Given the description of an element on the screen output the (x, y) to click on. 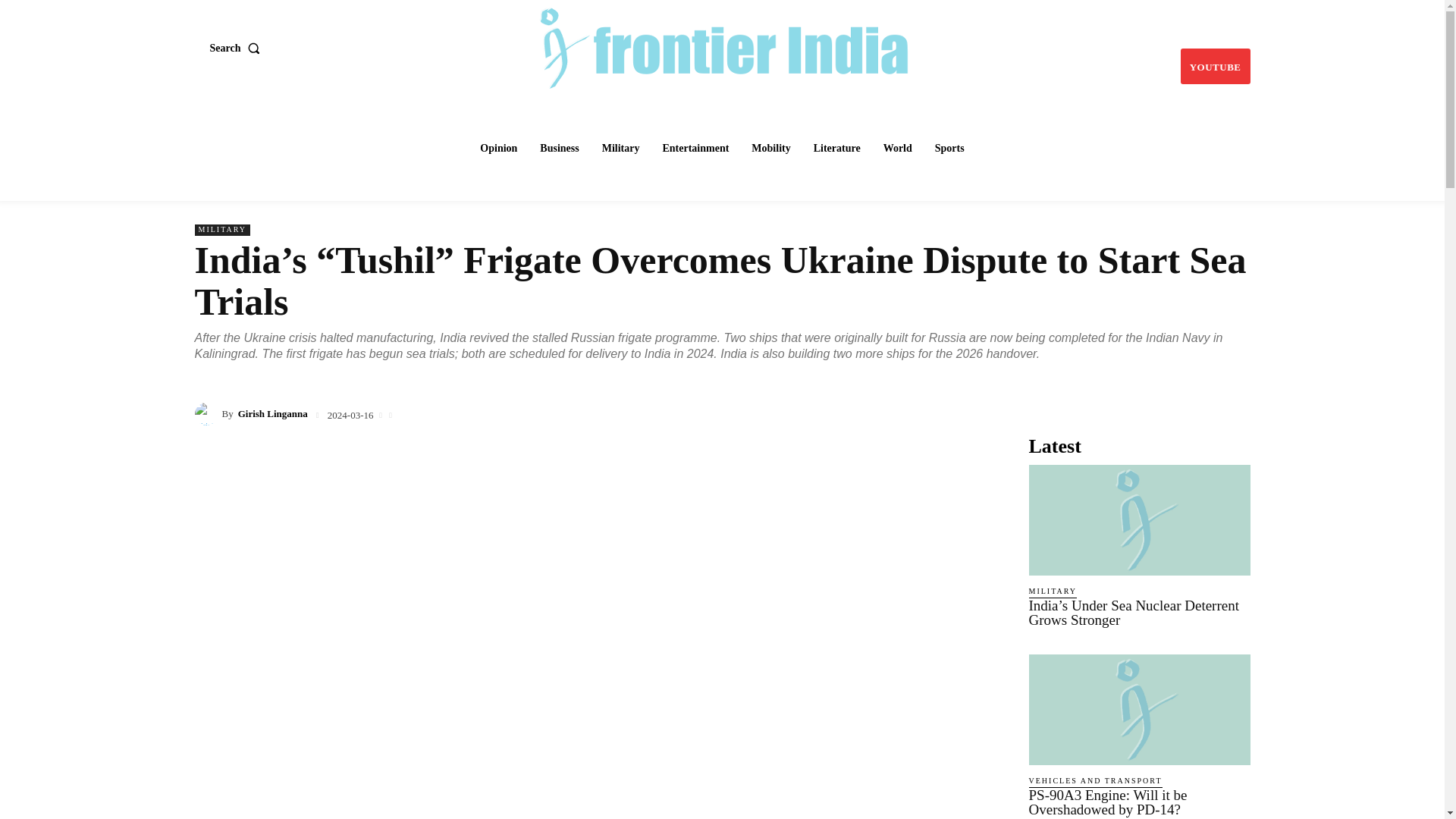
Frontier India (723, 46)
Entertainment (694, 148)
Opinion (497, 148)
World (898, 148)
Sports (949, 148)
YOUTUBE (1215, 66)
Frontier India (724, 46)
Mobility (770, 148)
Literature (836, 148)
Business (559, 148)
